Given the description of an element on the screen output the (x, y) to click on. 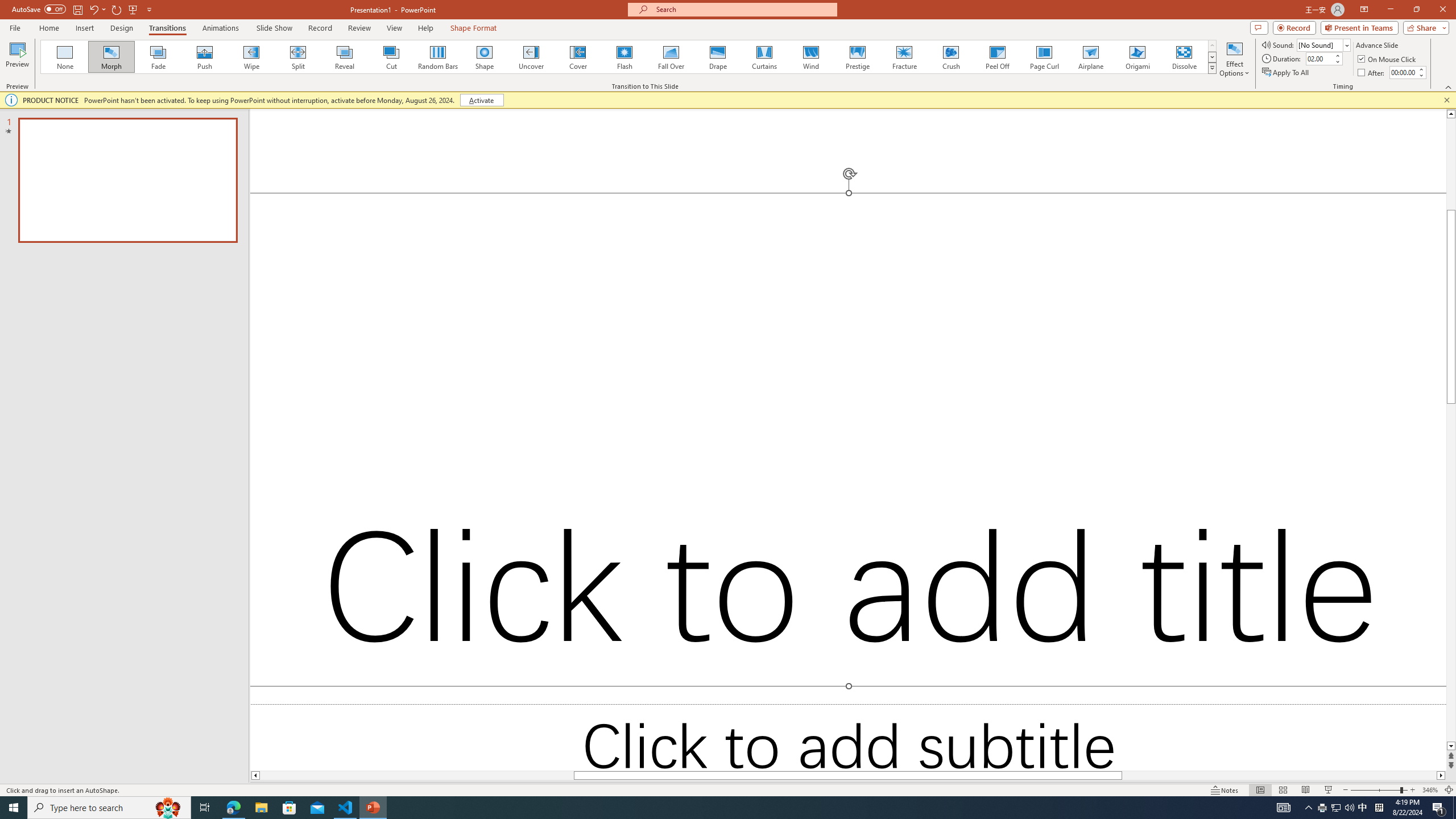
Split (298, 56)
Dissolve (1183, 56)
Reveal (344, 56)
Airplane (1090, 56)
Shape (484, 56)
